Given the description of an element on the screen output the (x, y) to click on. 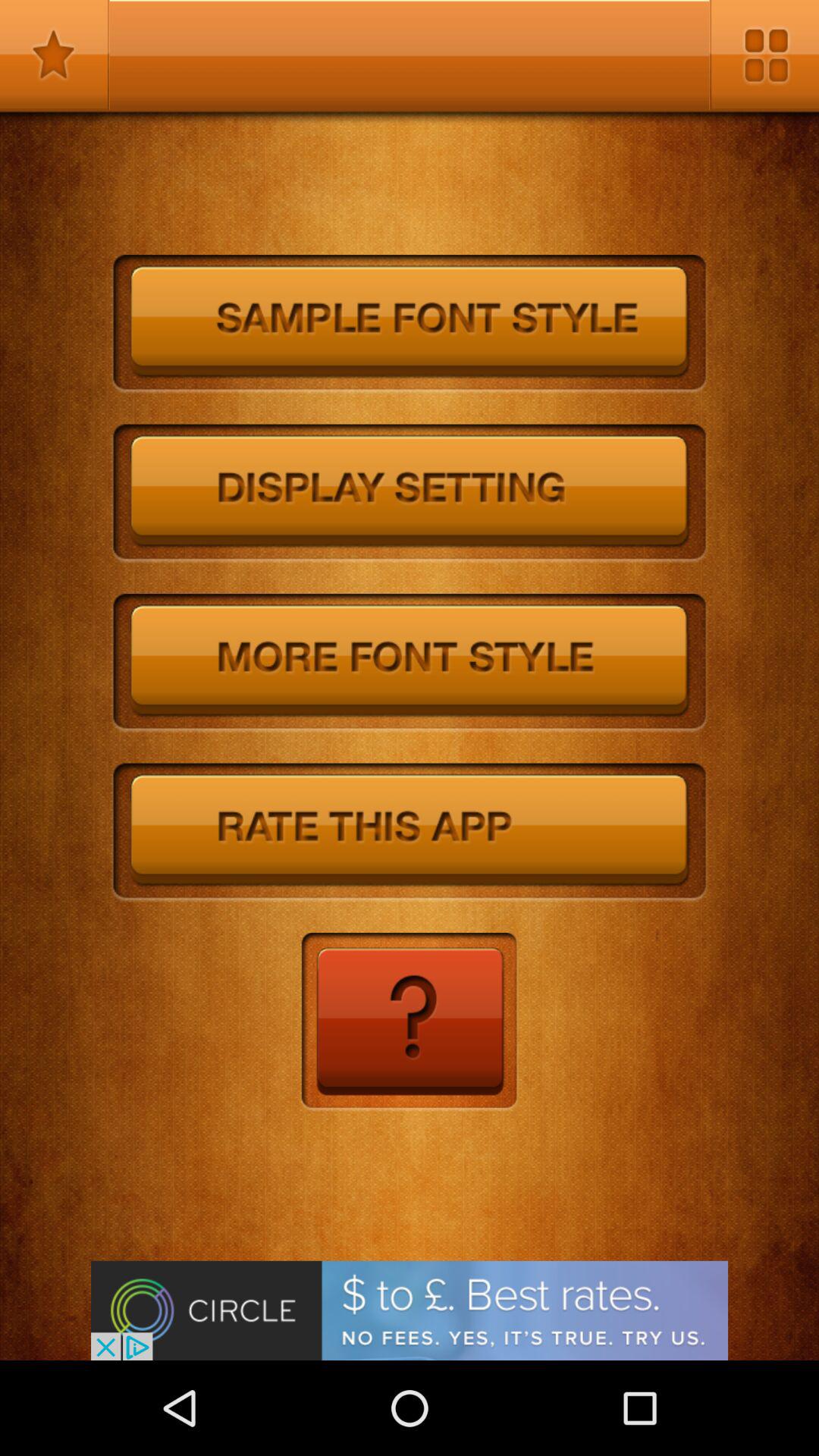
mark as favorite (54, 54)
